Given the description of an element on the screen output the (x, y) to click on. 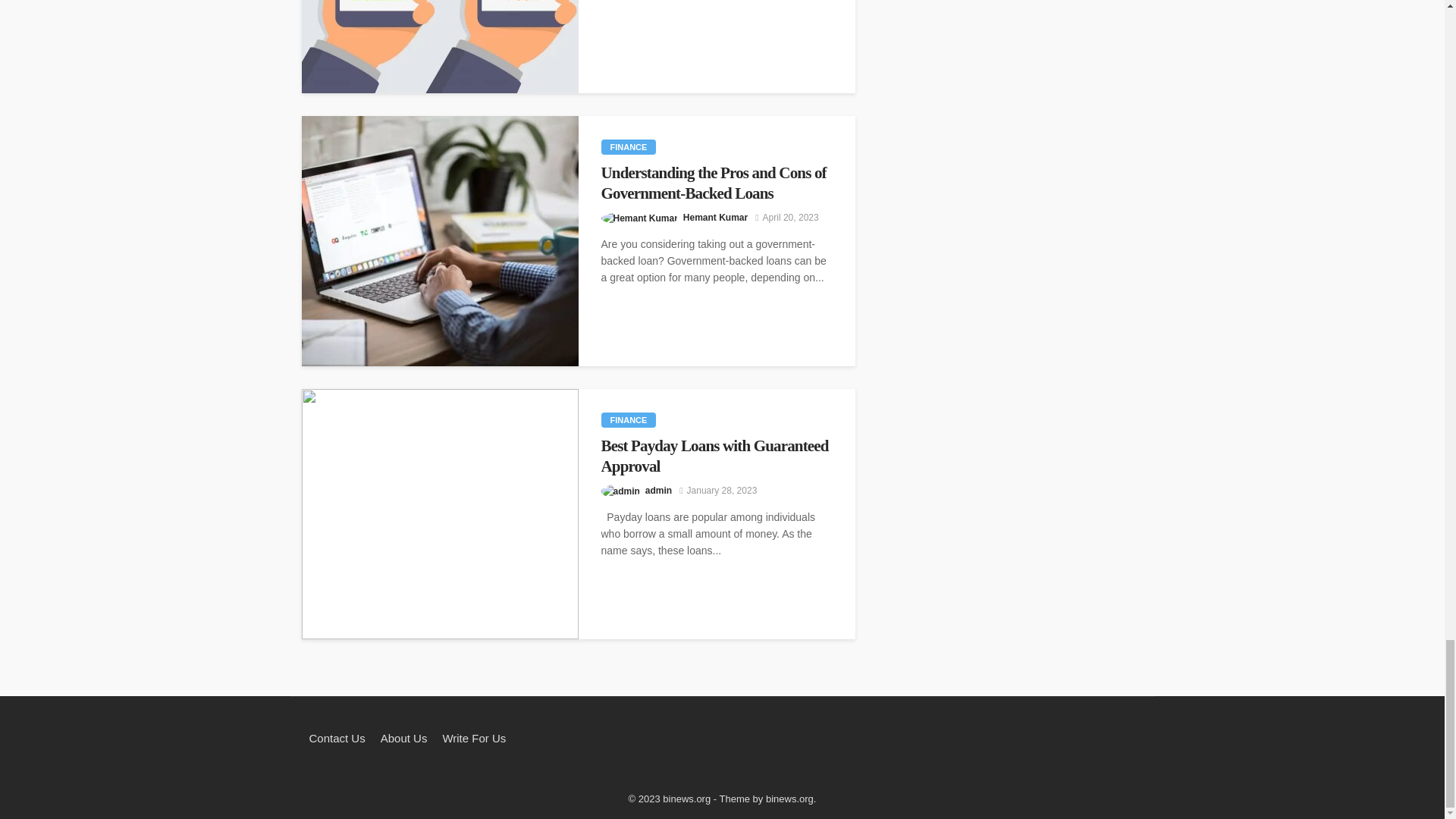
Finance (627, 146)
Finance (627, 419)
Best Payday Loans with Guaranteed Approval (439, 514)
Understanding the Pros and Cons of Government-Backed Loans (439, 241)
Understanding the Pros and Cons of Government-Backed Loans (715, 182)
How Important Is Your Credit Score? (439, 46)
